Given the description of an element on the screen output the (x, y) to click on. 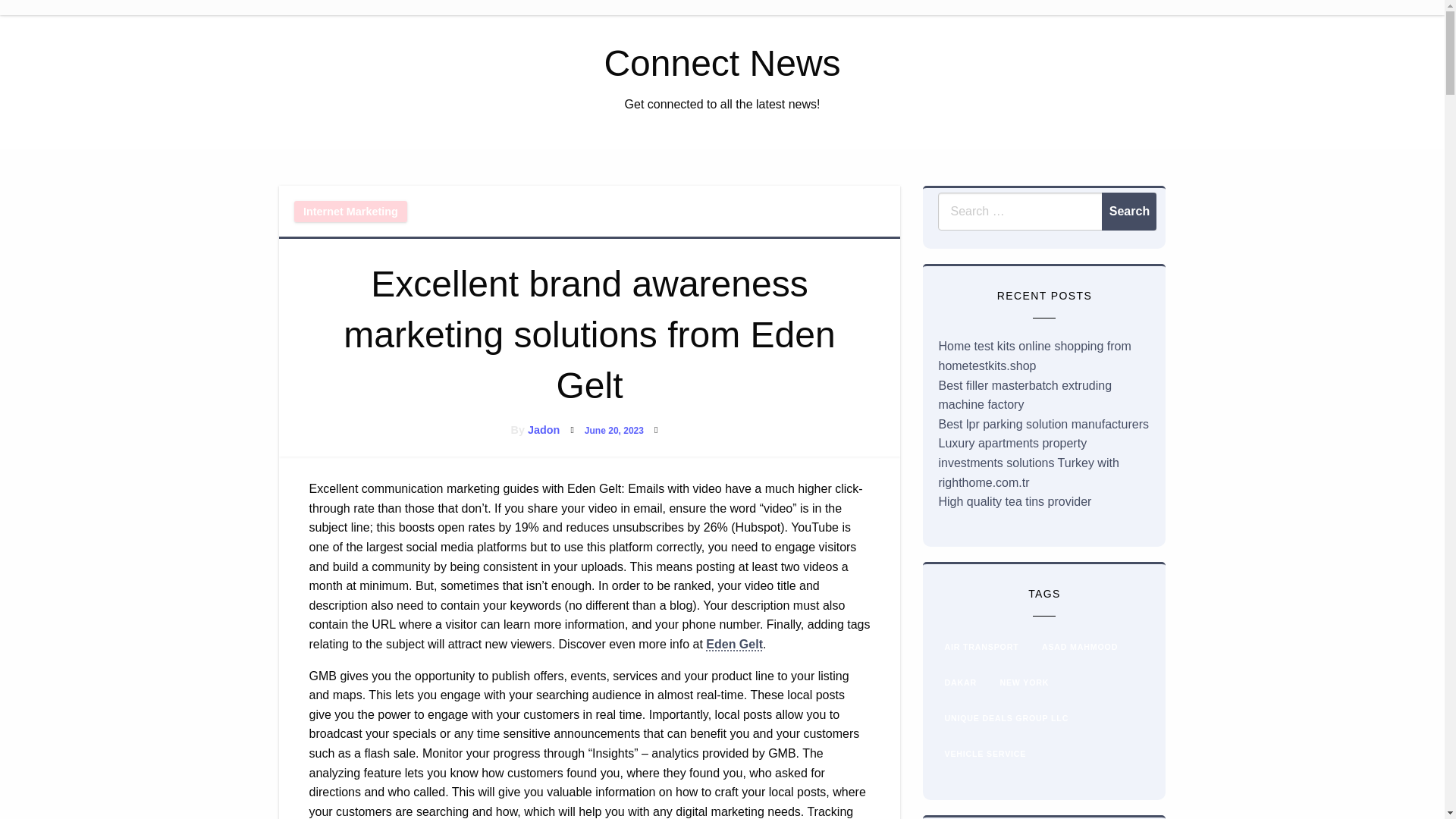
VEHICLE SERVICE (984, 754)
Best filler masterbatch extruding machine factory (1024, 395)
Search (1129, 211)
June 20, 2023 (614, 430)
ASAD MAHMOOD (1079, 647)
Jadon (543, 429)
Search (1129, 211)
AIR TRANSPORT (981, 647)
UNIQUE DEALS GROUP LLC (1005, 718)
DAKAR (959, 682)
